Given the description of an element on the screen output the (x, y) to click on. 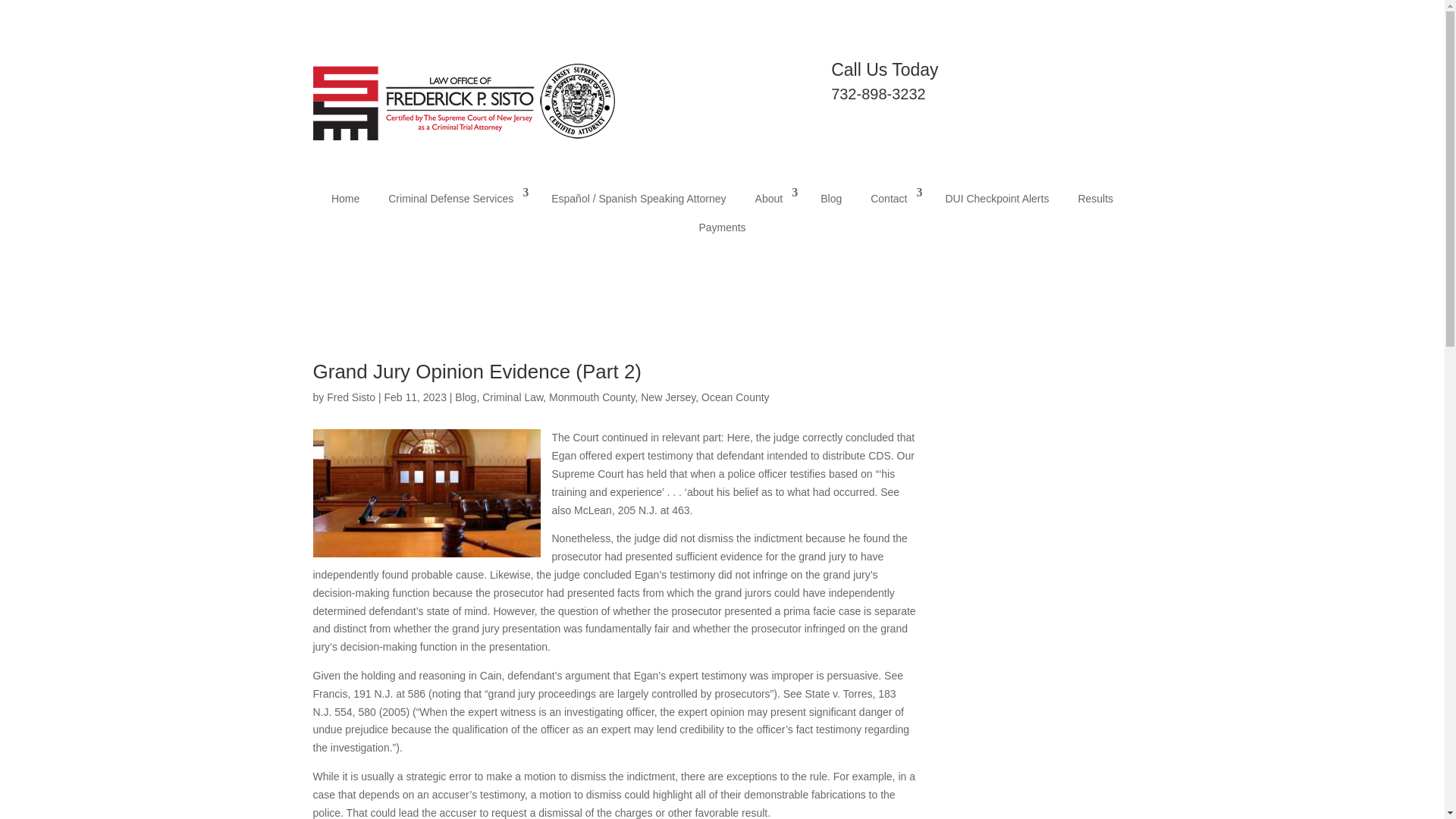
Criminal Defense Services (454, 198)
Blog (830, 198)
Posts by Fred Sisto (350, 397)
Home (344, 198)
SISTO logo 2-14-24 400px (464, 100)
Contact (892, 198)
About (773, 198)
